Given the description of an element on the screen output the (x, y) to click on. 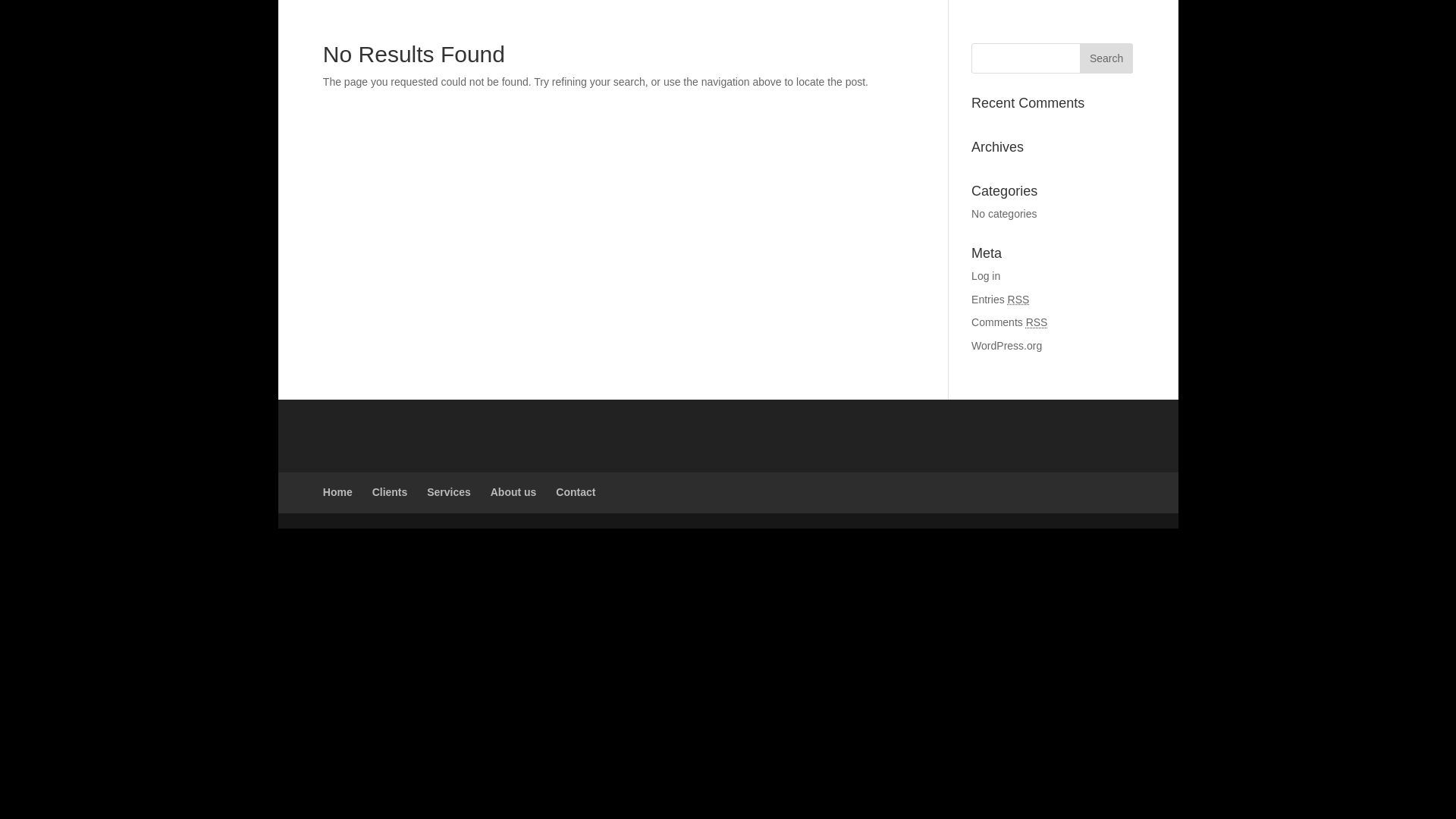
Really Simple Syndication (1018, 299)
Search (1106, 58)
Services (448, 491)
Log in (985, 275)
Clients (389, 491)
Entries RSS (1000, 299)
About us (513, 491)
WordPress.org (1006, 345)
Contact (575, 491)
